Given the description of an element on the screen output the (x, y) to click on. 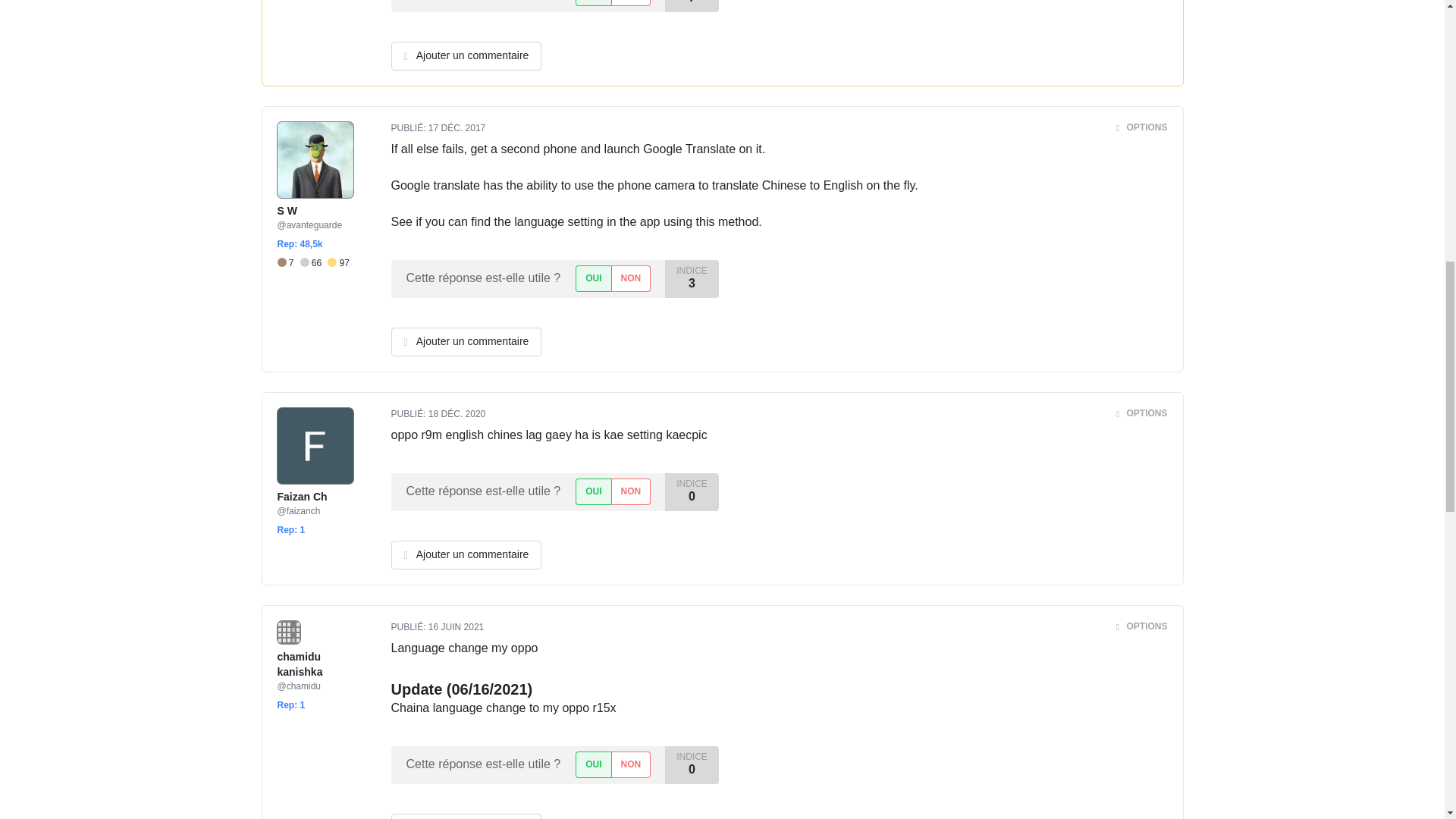
7 badges Bronze (288, 263)
Sun, 17 Dec 2017 23:41:21 -0700 (456, 127)
66 badges Argent (314, 263)
97 badges Or (338, 263)
